Given the description of an element on the screen output the (x, y) to click on. 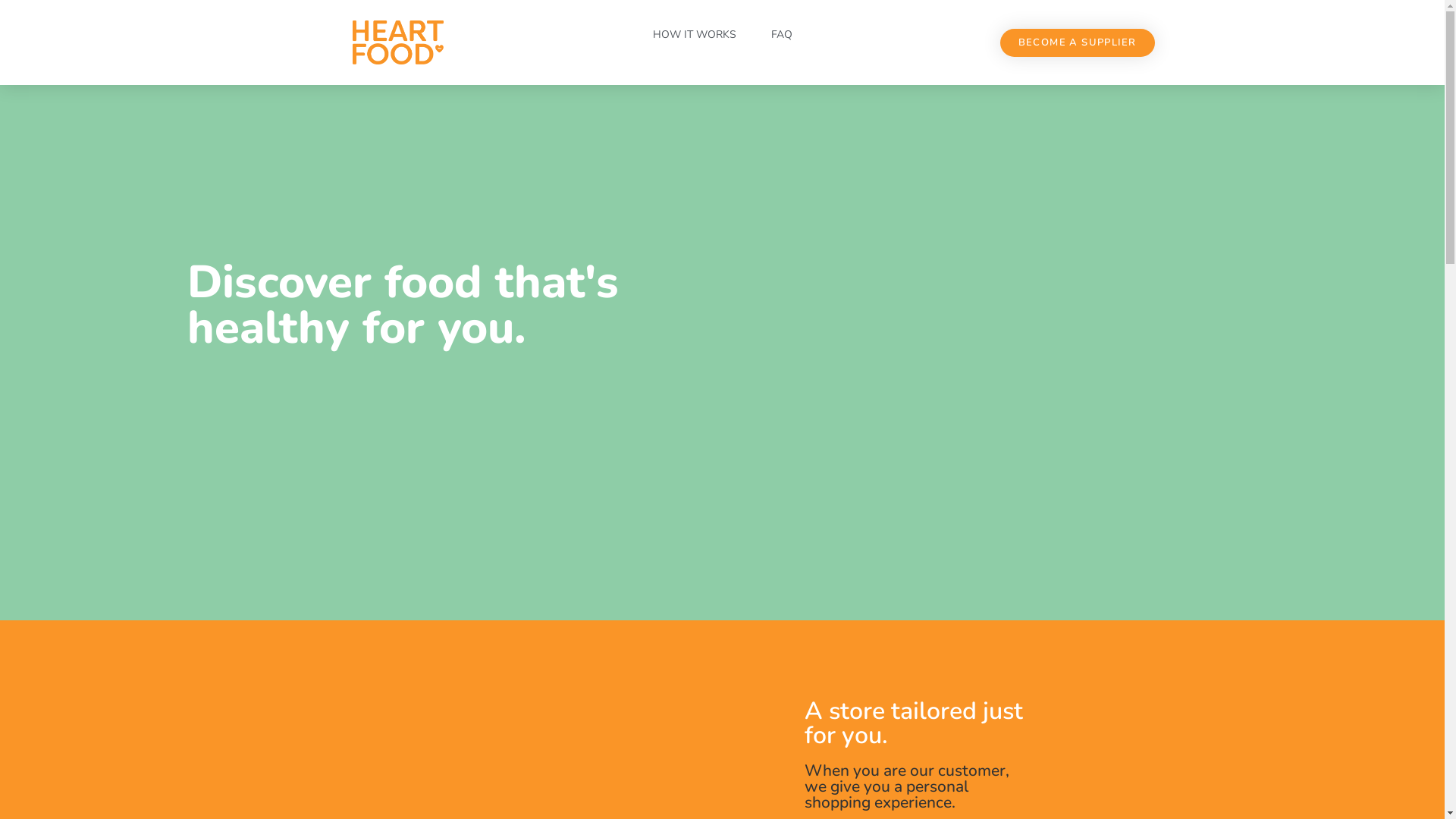
BECOME A SUPPLIER Element type: text (1077, 42)
FAQ Element type: text (780, 34)
HOW IT WORKS Element type: text (693, 34)
